Given the description of an element on the screen output the (x, y) to click on. 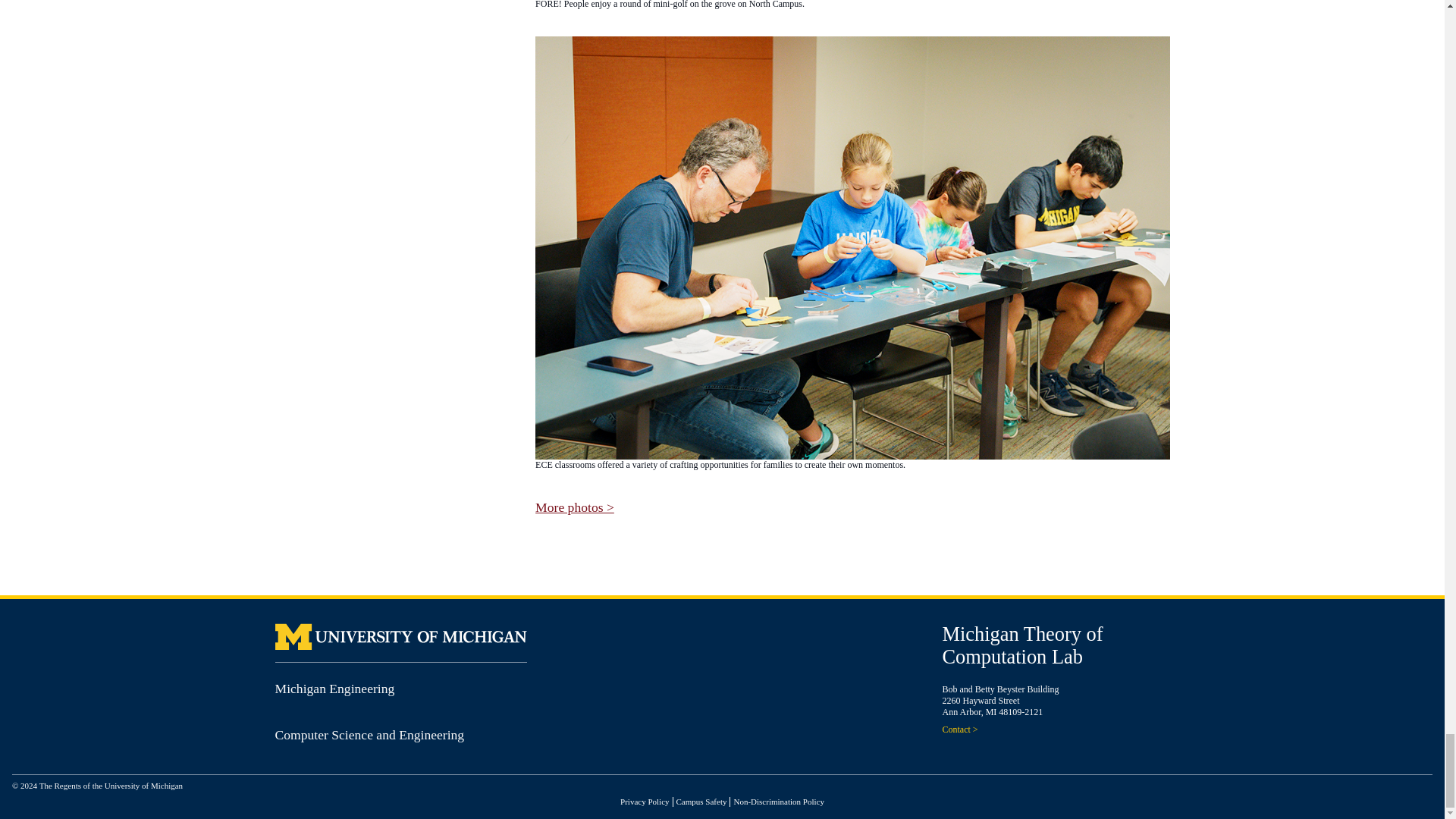
Privacy Policy (644, 800)
The Regents of the University of Michigan (111, 785)
Computer Science and Engineering (369, 734)
Michigan Engineering (334, 688)
Michigan Theory of Computation Lab (1022, 645)
